Given the description of an element on the screen output the (x, y) to click on. 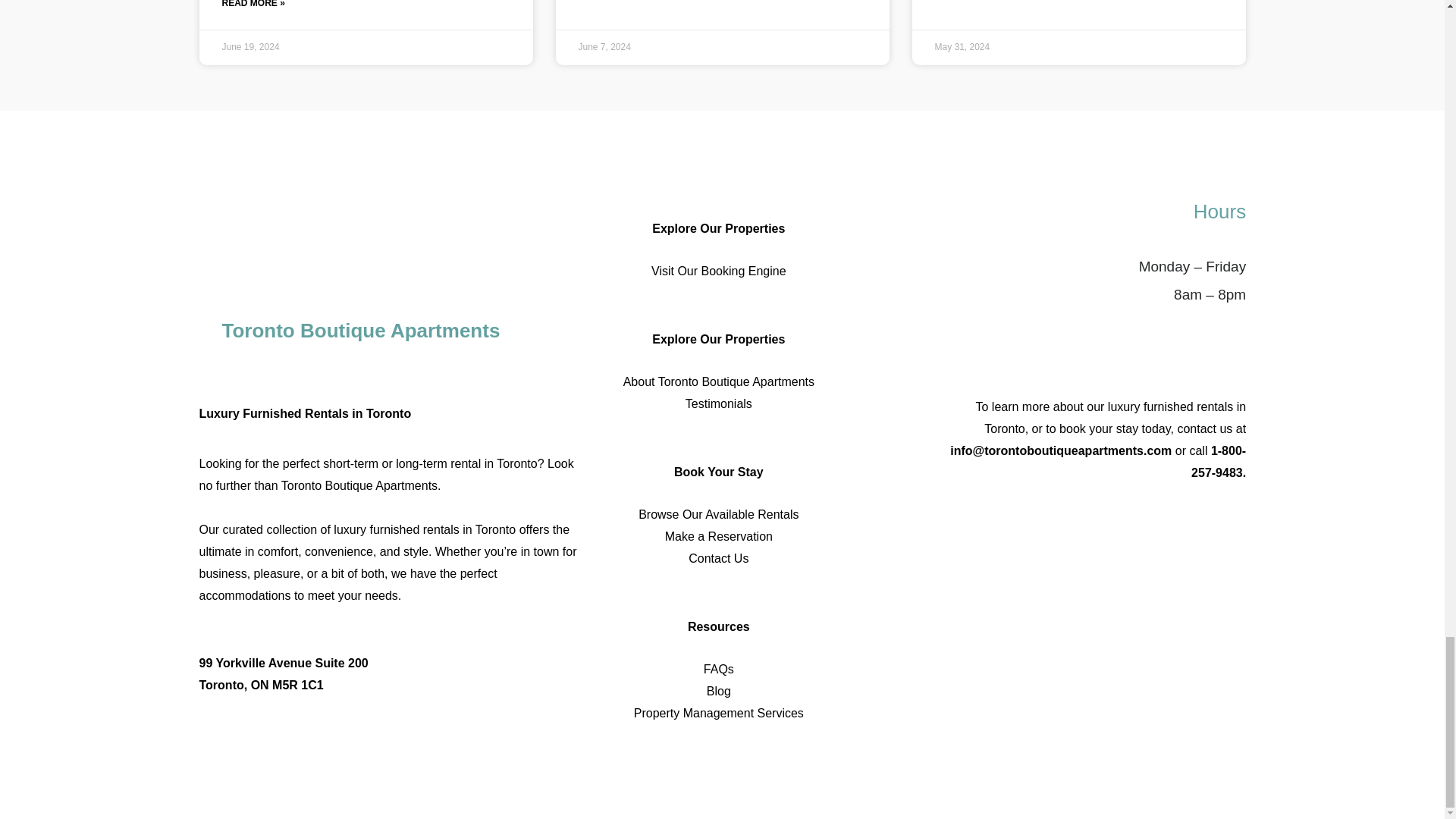
About Toronto Boutique Apartments (718, 382)
Visit Our Booking Engine (718, 270)
